Given the description of an element on the screen output the (x, y) to click on. 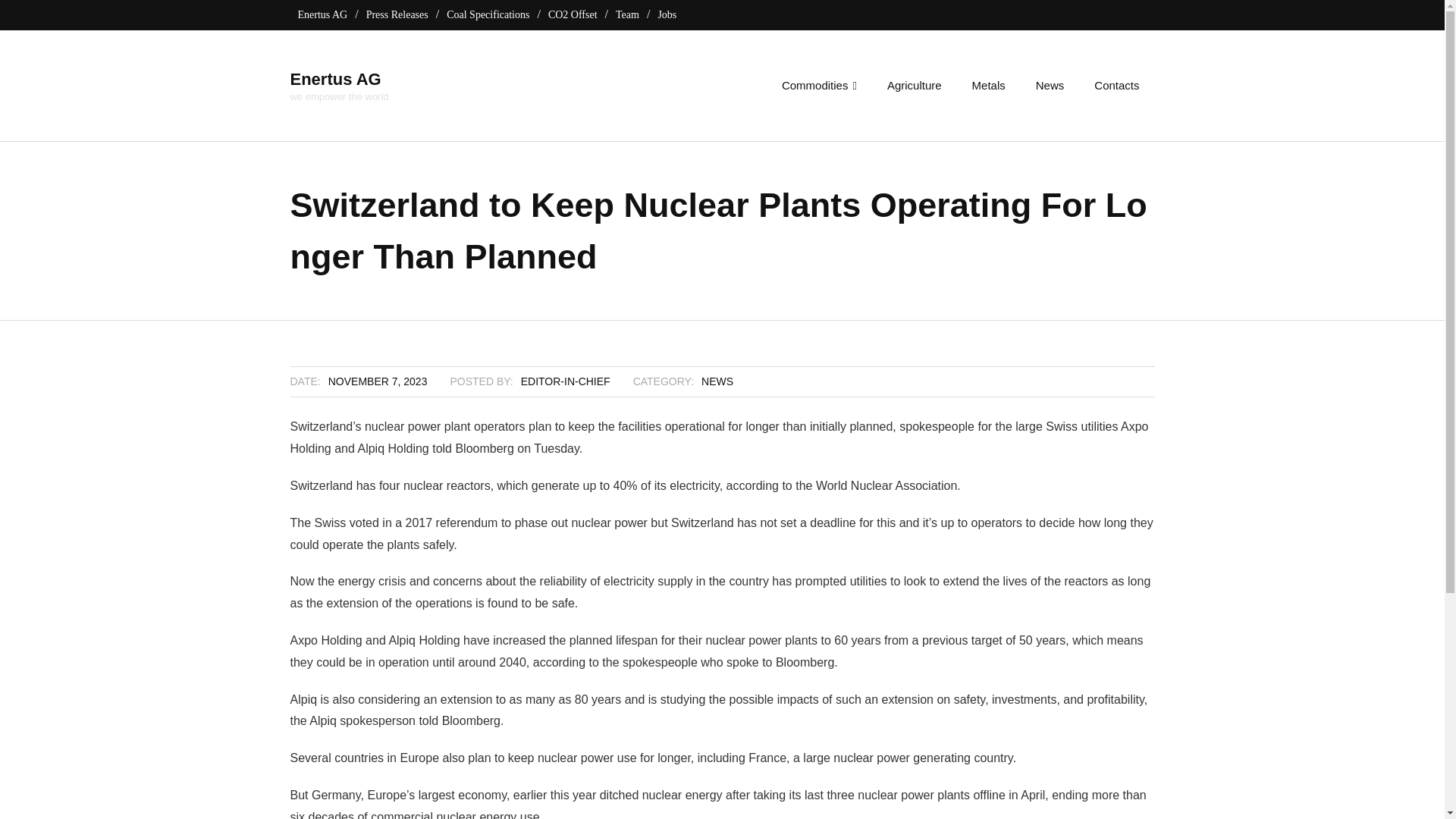
NOVEMBER 7, 2023 (338, 84)
EDITOR-IN-CHIEF (378, 381)
Team (565, 381)
Commodities (627, 14)
Enertus AG (819, 85)
View all posts by Editor-in-Chief (338, 79)
we empower the world (565, 381)
NEWS (338, 96)
